Given the description of an element on the screen output the (x, y) to click on. 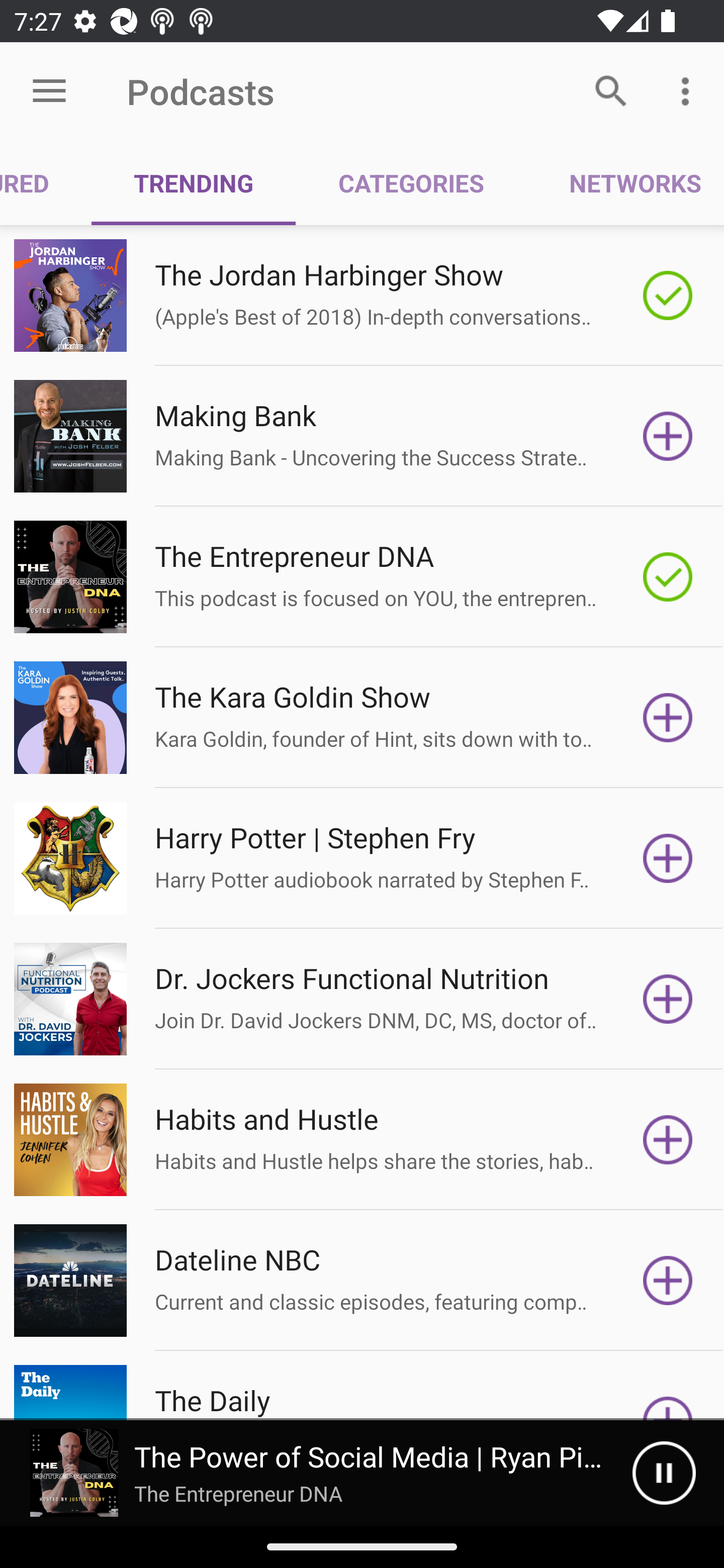
Open menu (49, 91)
Search (611, 90)
More options (688, 90)
TRENDING (193, 183)
CATEGORIES (410, 183)
NETWORKS (625, 183)
Subscribed (667, 295)
Subscribe (667, 435)
Subscribed (667, 576)
Subscribe (667, 717)
Subscribe (667, 858)
Subscribe (667, 998)
Subscribe (667, 1139)
Subscribe (667, 1280)
Pause (663, 1472)
